Given the description of an element on the screen output the (x, y) to click on. 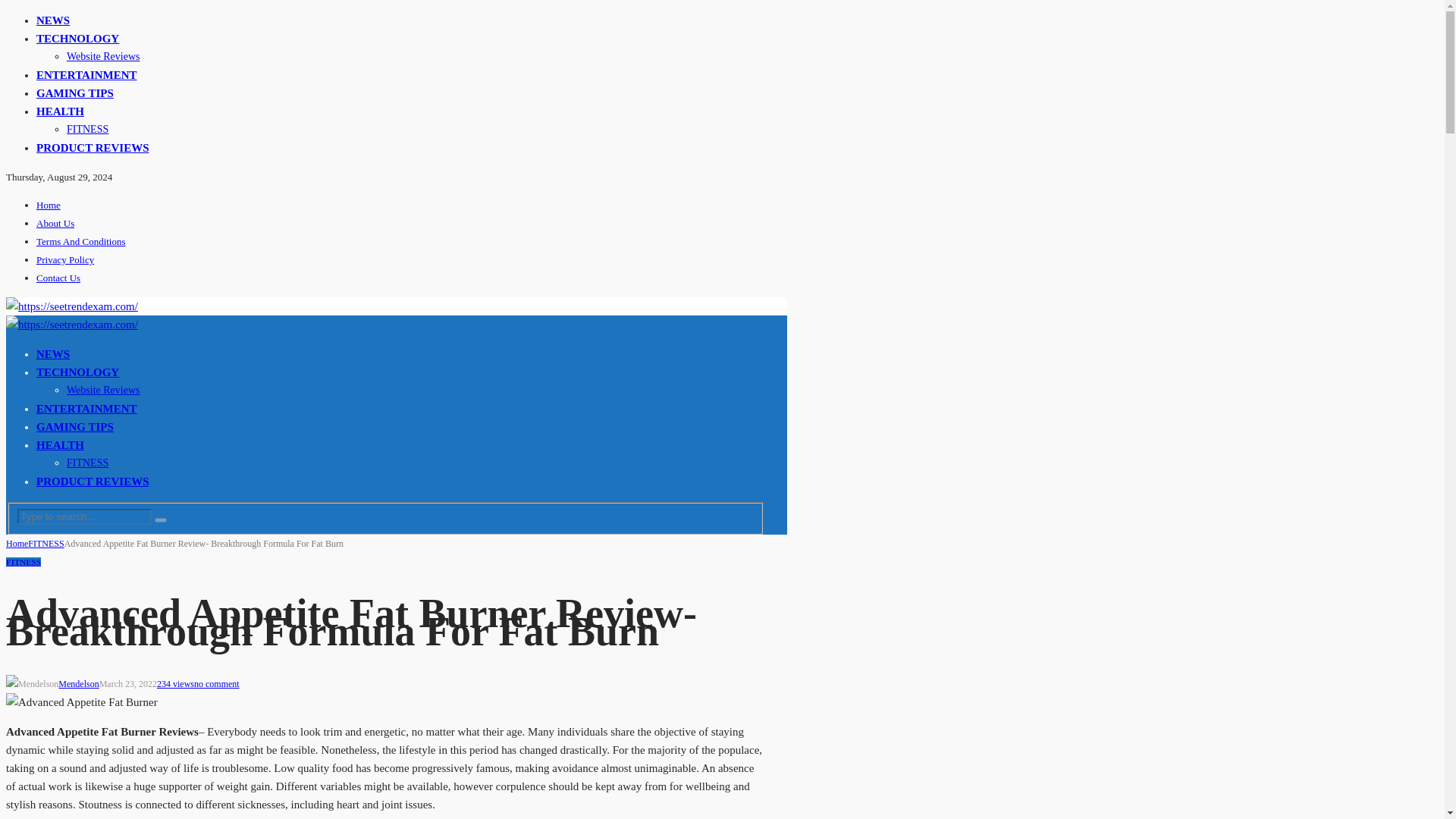
seetrendexam (71, 324)
Contact Us (58, 277)
Privacy Policy (65, 259)
FITNESS (45, 543)
234 views (175, 683)
Website Reviews (102, 56)
FITNESS (86, 462)
Terms And Conditions (80, 241)
ENTERTAINMENT (86, 74)
